Given the description of an element on the screen output the (x, y) to click on. 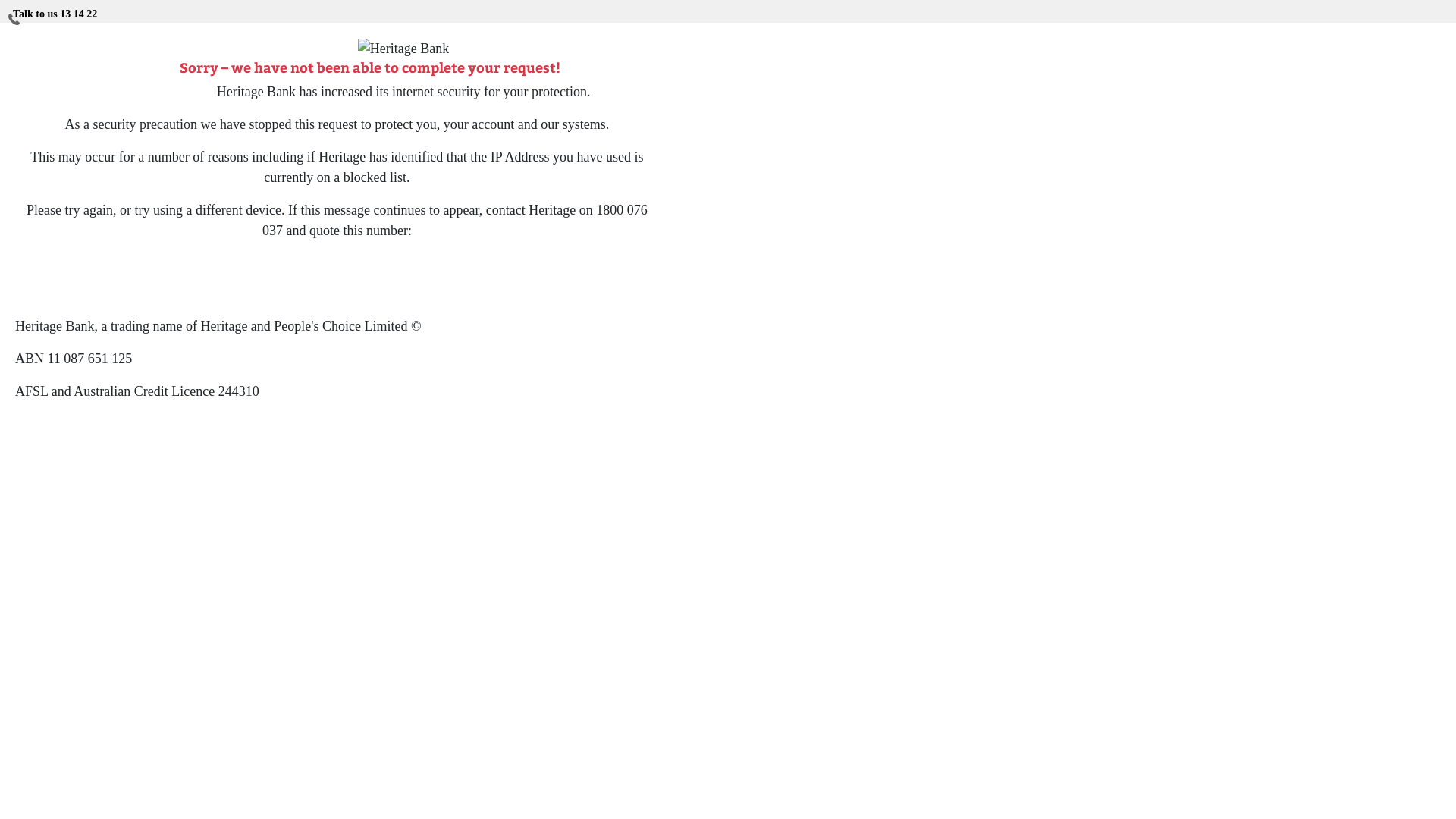
Talk to us 13 14 22 Element type: text (54, 10)
